Given the description of an element on the screen output the (x, y) to click on. 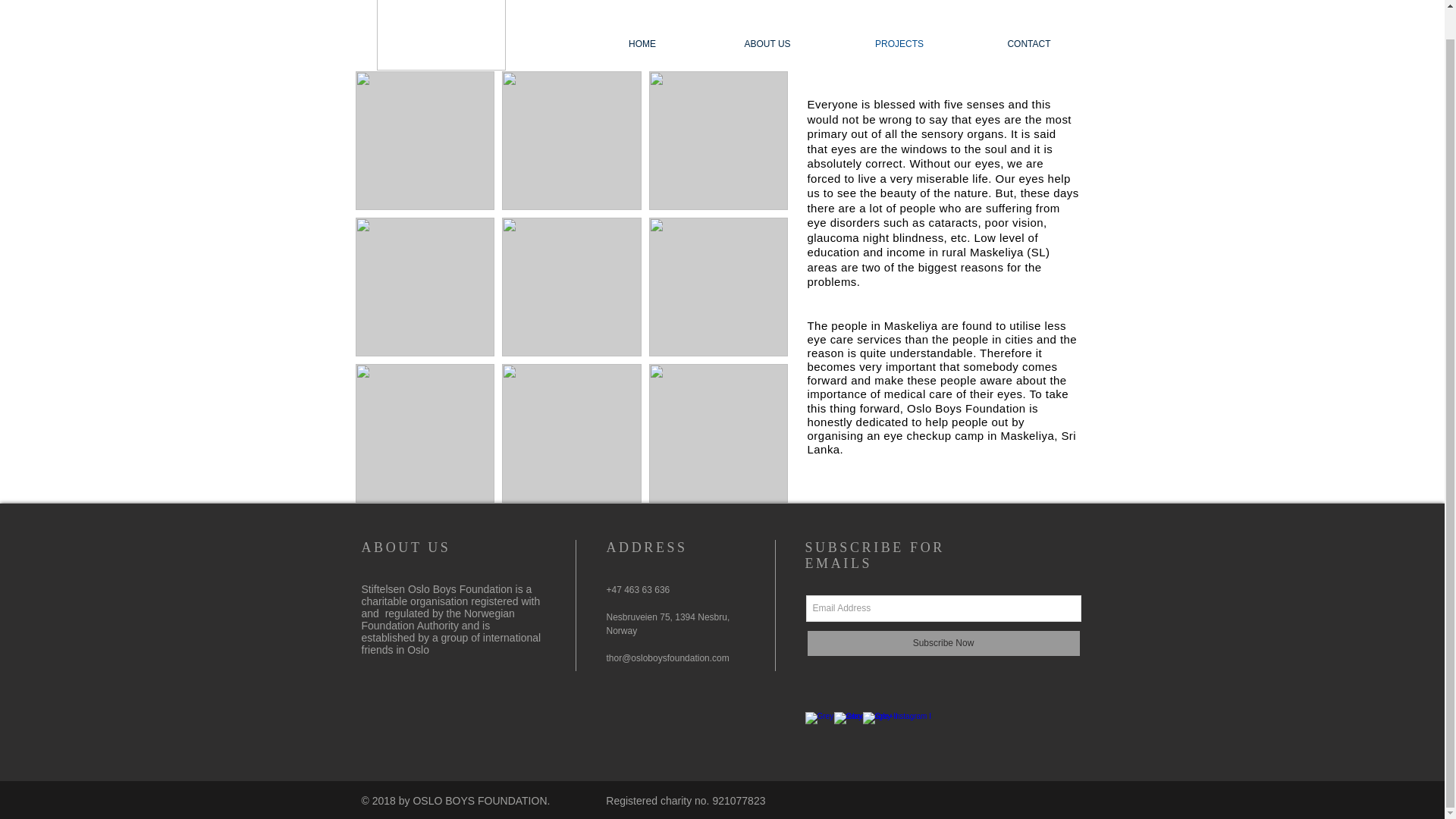
PROJECTS (898, 44)
ABOUT US (767, 44)
HOME (641, 44)
Subscribe Now (942, 643)
CONTACT (1028, 44)
